Given the description of an element on the screen output the (x, y) to click on. 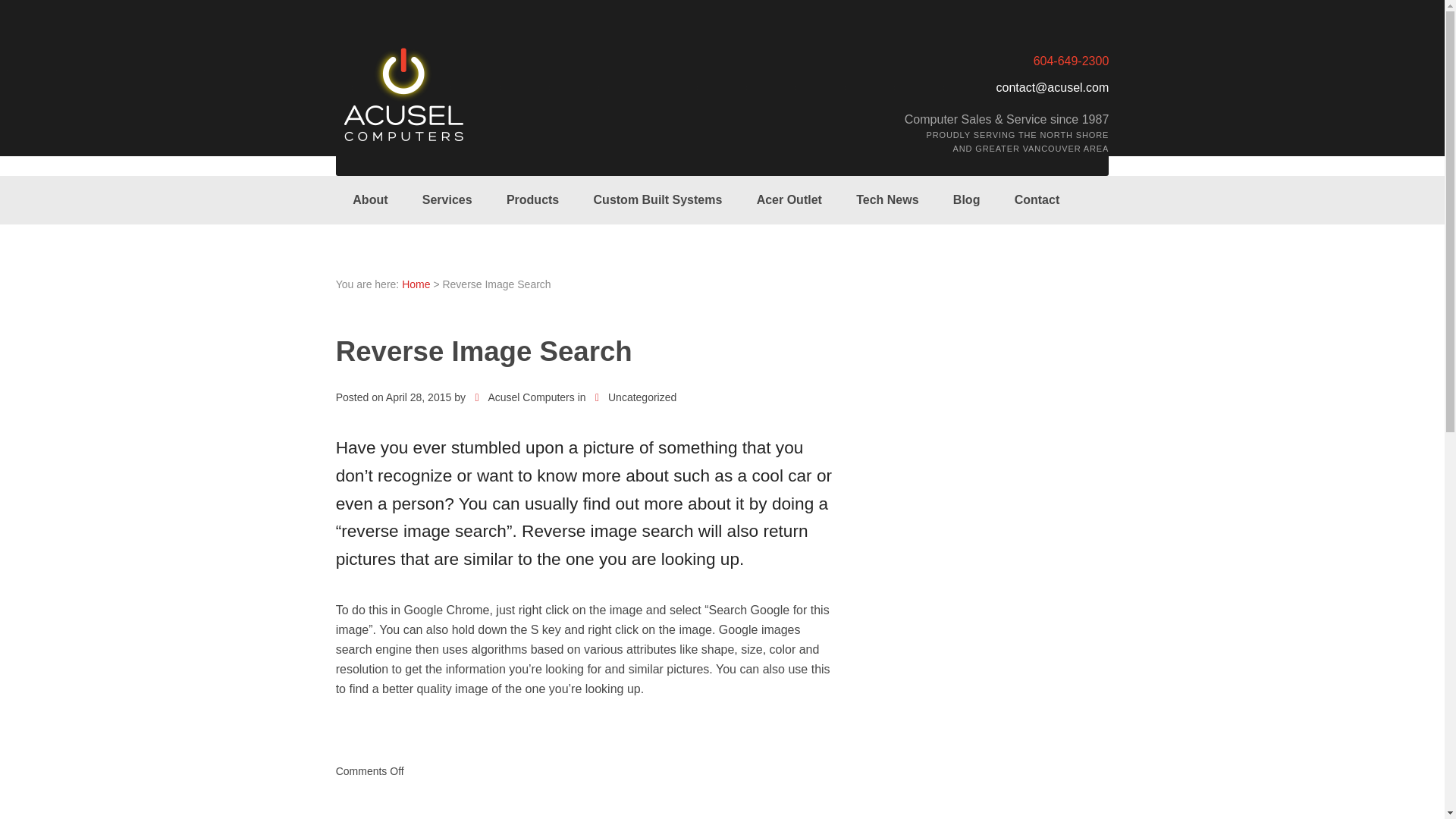
Tech News (888, 200)
Acusel Computers (415, 284)
604-649-2300 (1071, 60)
Posts by Acusel Computers (523, 397)
Acusel Computers (523, 397)
Blog (966, 200)
About (370, 200)
Uncategorized (636, 397)
Custom Built Systems (657, 200)
Home (415, 284)
